Given the description of an element on the screen output the (x, y) to click on. 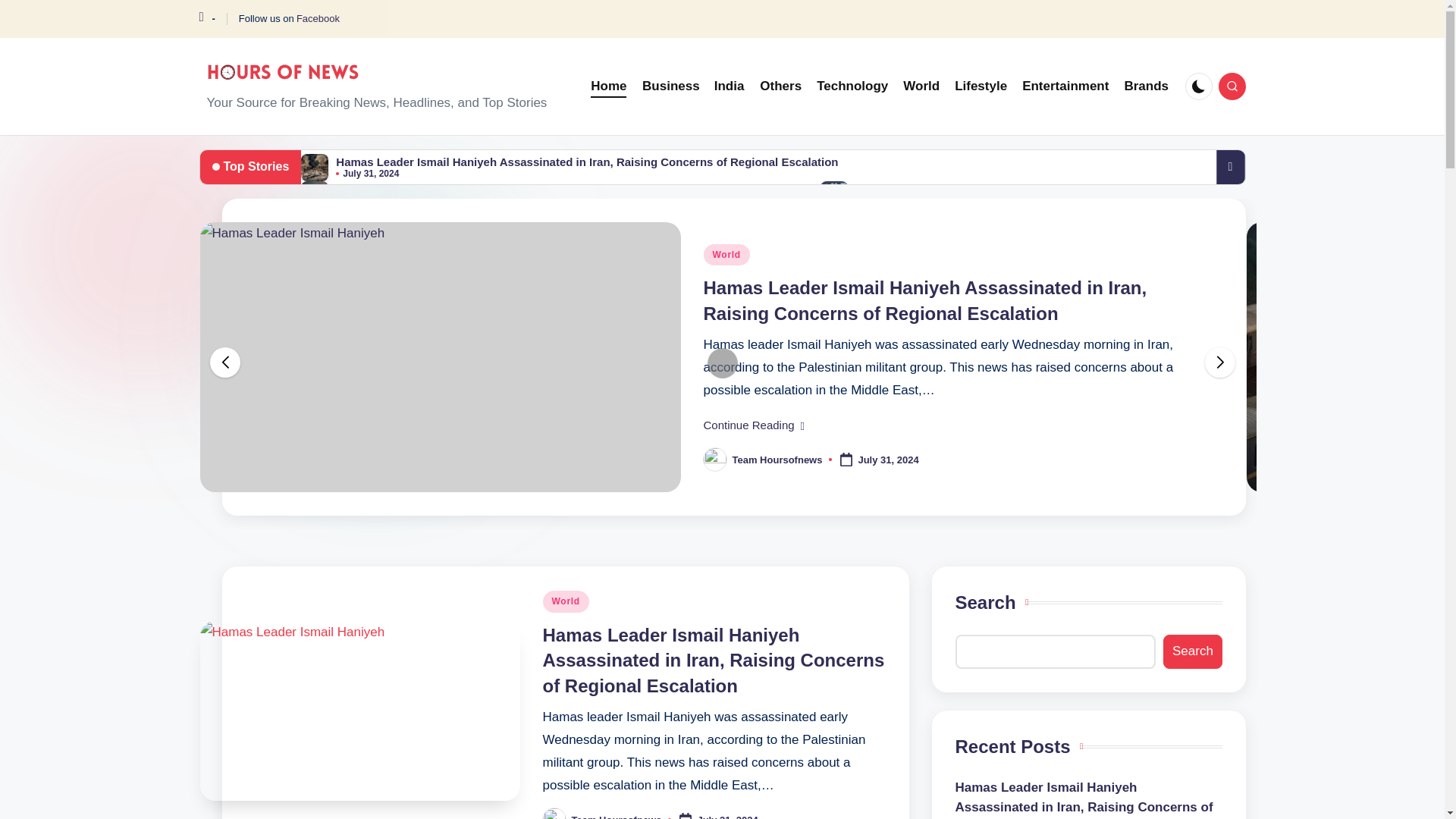
Brands (1146, 86)
View all posts by Team Hoursofnews (617, 816)
Lifestyle (981, 86)
10 Essential Skills to Boost Your Career in 2024 (984, 188)
Home (608, 86)
Others (781, 86)
Entertainment (1065, 86)
World (920, 86)
